Given the description of an element on the screen output the (x, y) to click on. 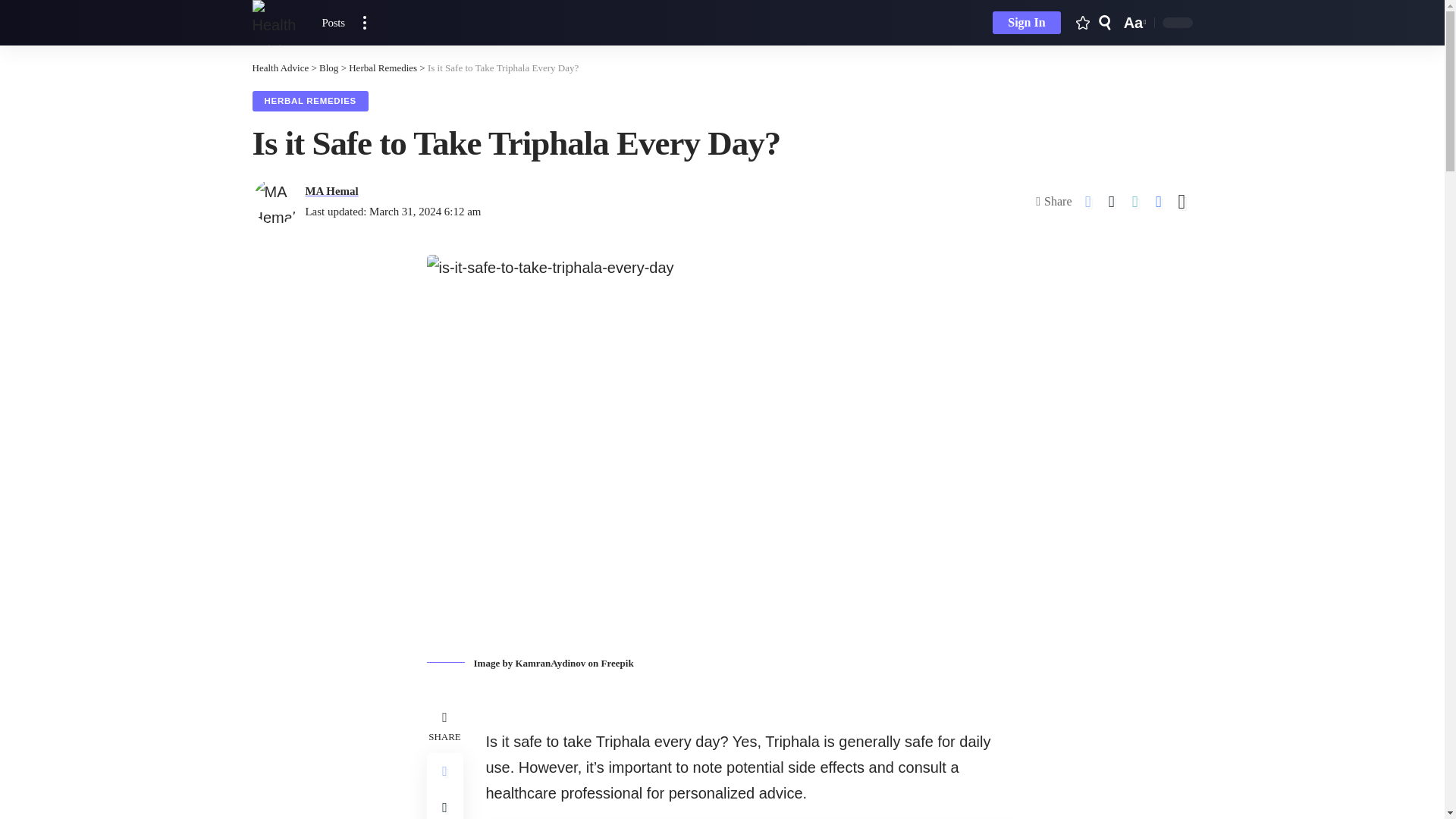
Sign In (1025, 22)
Go to the Herbal Remedies Category archives. (382, 67)
Go to Blog. (327, 67)
Health Advice (279, 67)
Go to Health Advice. (1133, 22)
Posts (279, 67)
Health Advice (333, 22)
